Given the description of an element on the screen output the (x, y) to click on. 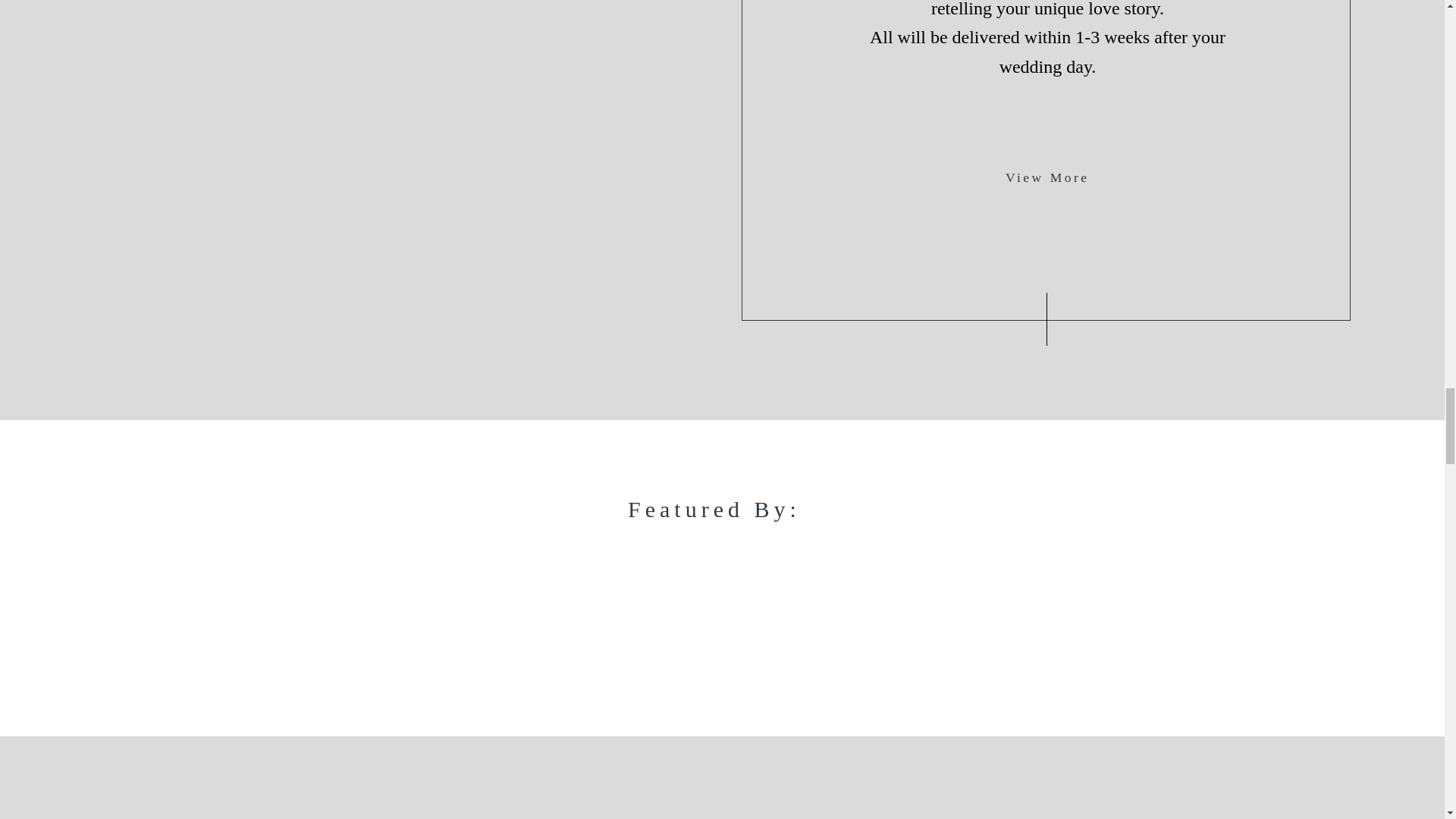
View More (1047, 177)
